Given the description of an element on the screen output the (x, y) to click on. 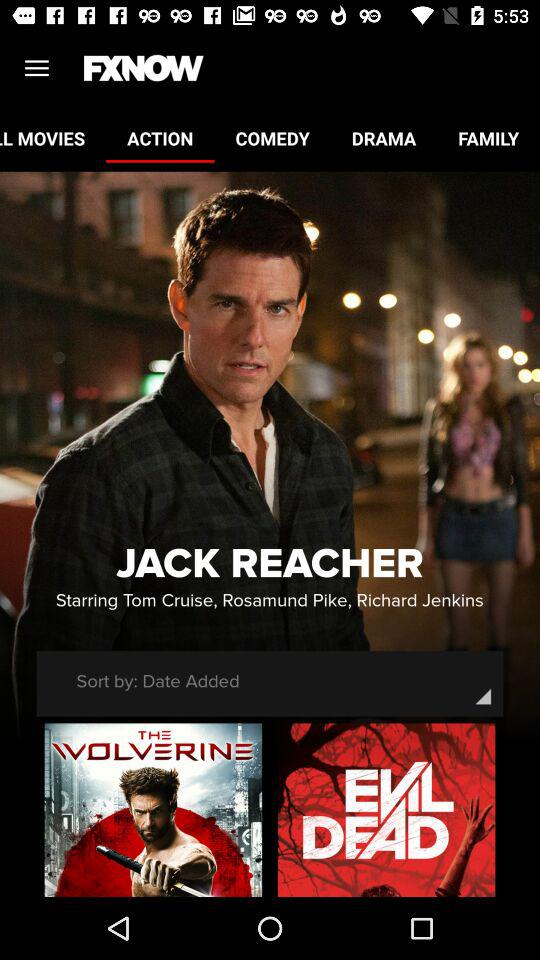
turn off the item next to comedy icon (160, 138)
